Given the description of an element on the screen output the (x, y) to click on. 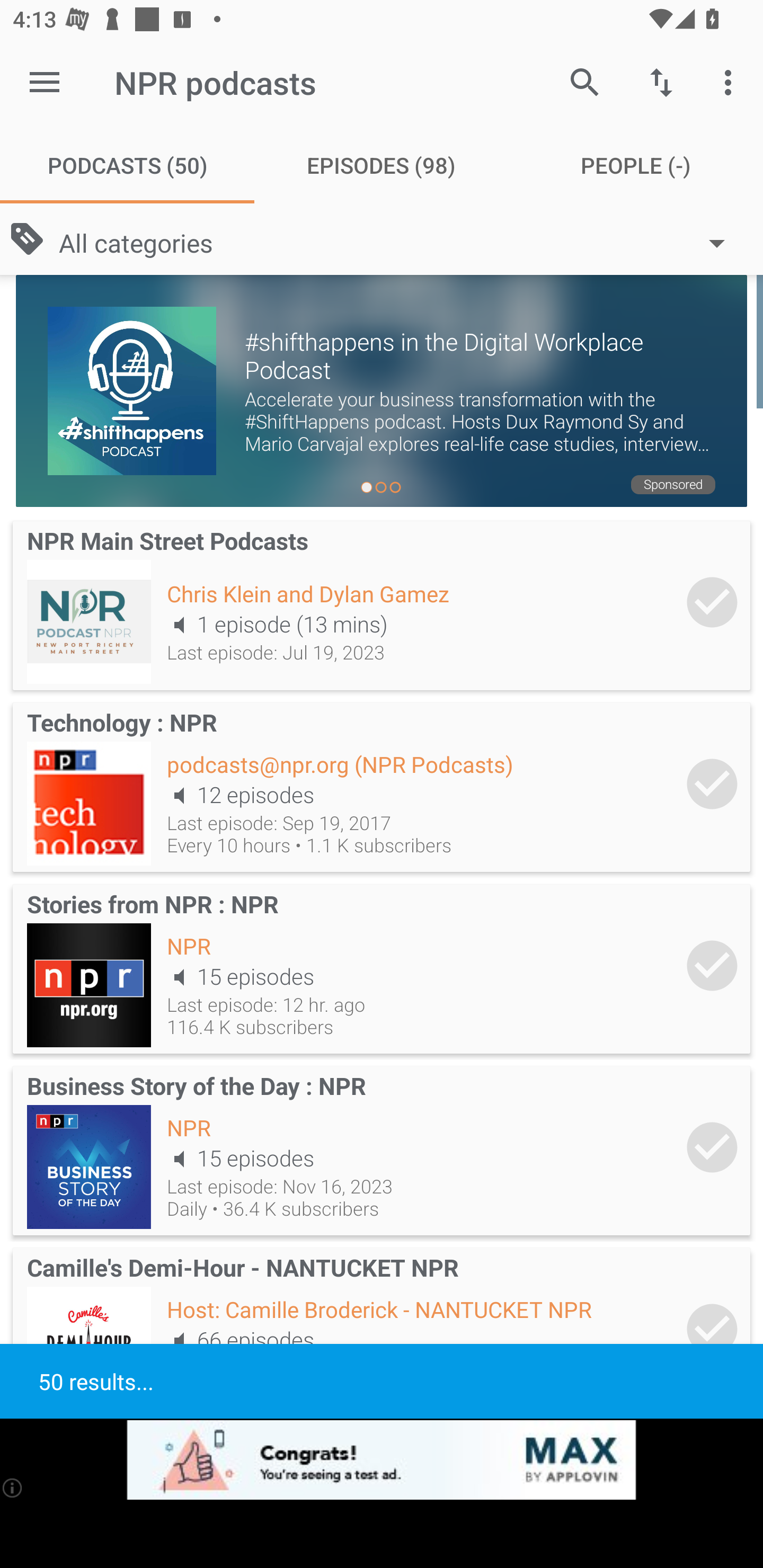
Open navigation sidebar (44, 82)
Search (585, 81)
Sort (661, 81)
More options (731, 81)
Episodes (98) EPISODES (98) (381, 165)
People (-) PEOPLE (-) (635, 165)
All categories (400, 242)
Add (711, 601)
Add (711, 783)
Add (711, 965)
Add (711, 1146)
Add (711, 1328)
app-monetization (381, 1459)
(i) (11, 1487)
